Given the description of an element on the screen output the (x, y) to click on. 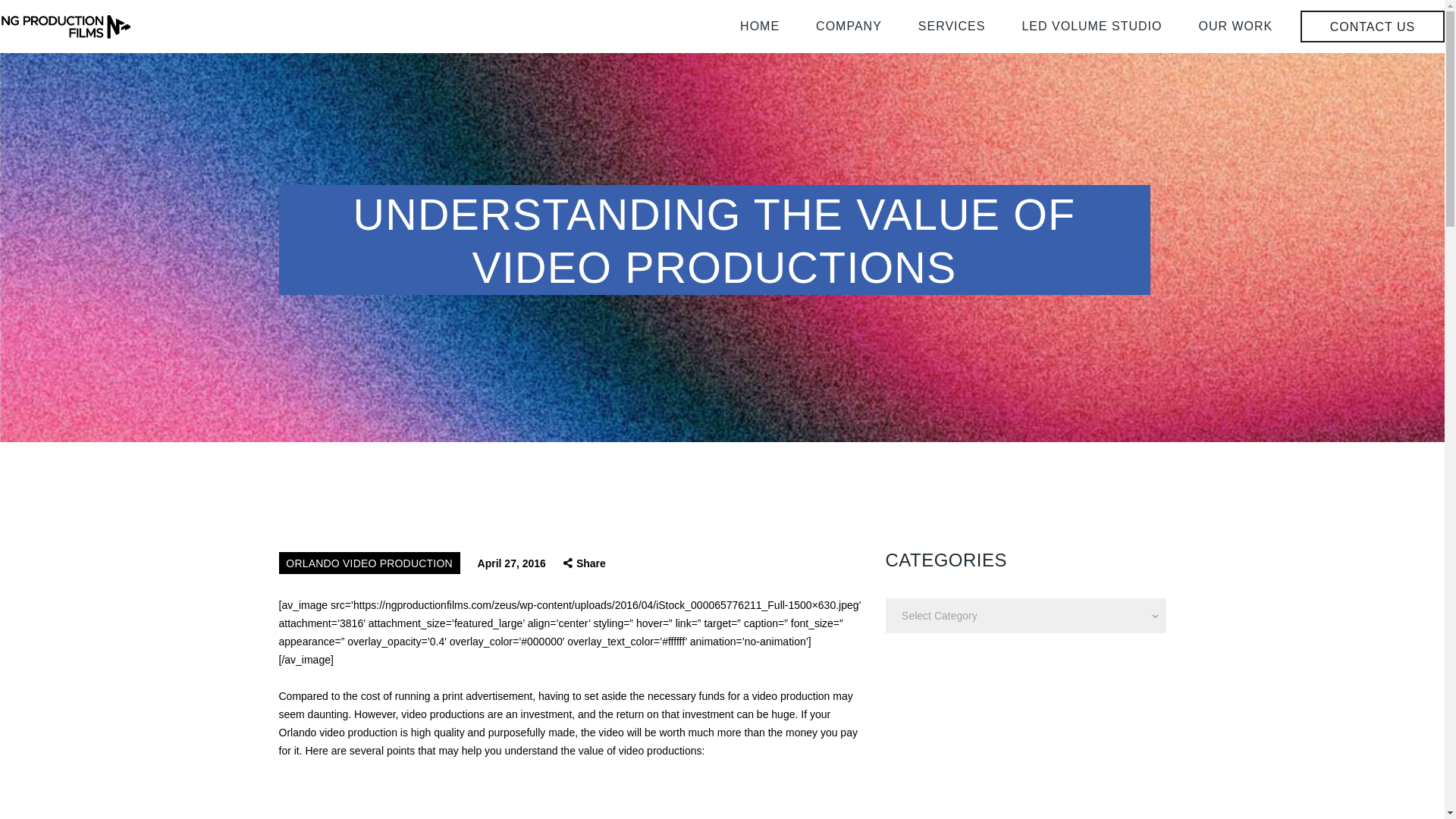
HOME (759, 25)
Orlando video production (338, 732)
OUR WORK (1234, 25)
April 27, 2016 (511, 563)
ORLANDO VIDEO PRODUCTION (369, 563)
Share (584, 563)
SERVICES (951, 25)
COMPANY (848, 25)
LED VOLUME STUDIO (1091, 25)
